Given the description of an element on the screen output the (x, y) to click on. 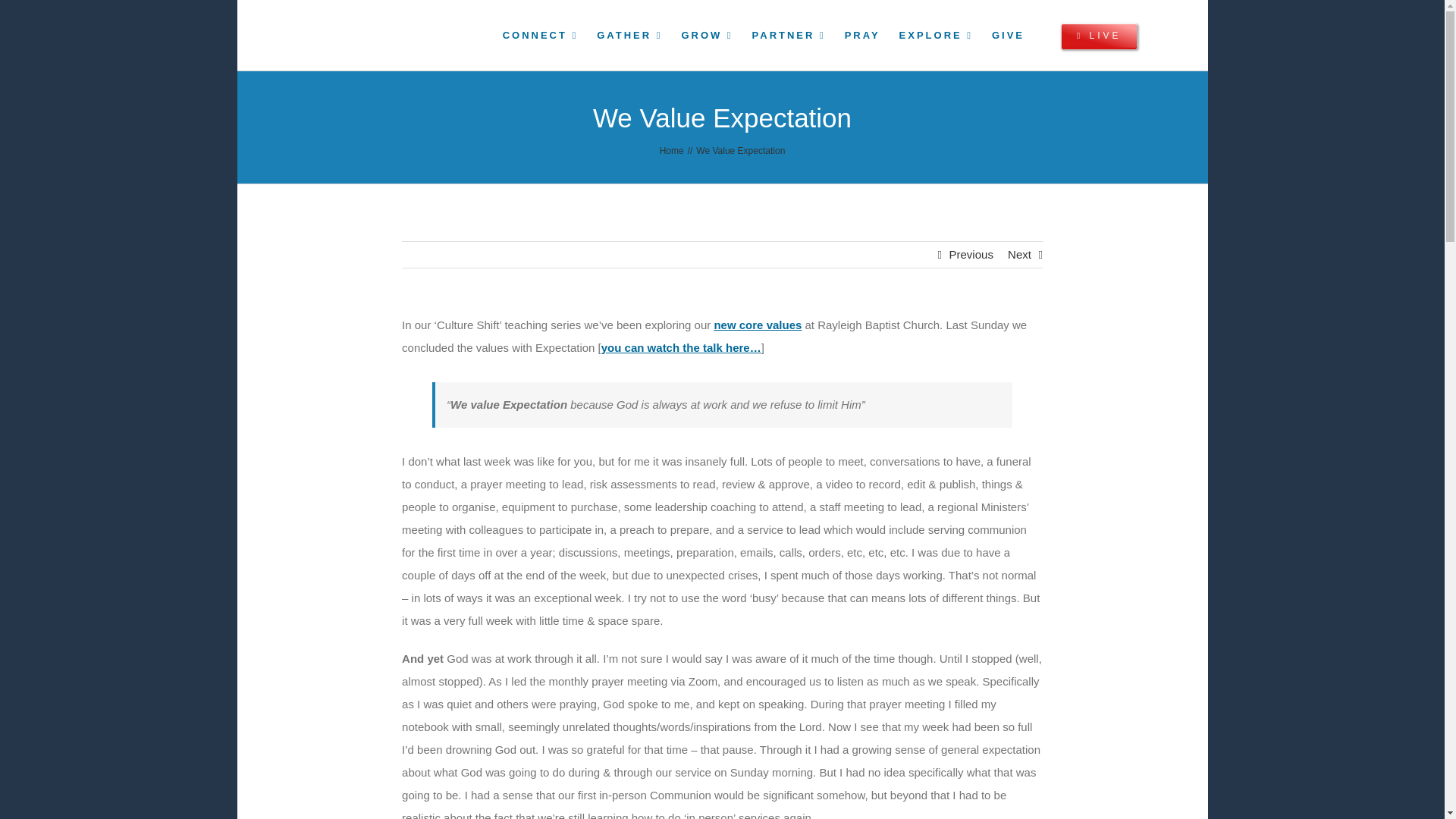
PARTNER (788, 35)
EXPLORE (935, 35)
GATHER (721, 35)
CONNECT (629, 35)
